Given the description of an element on the screen output the (x, y) to click on. 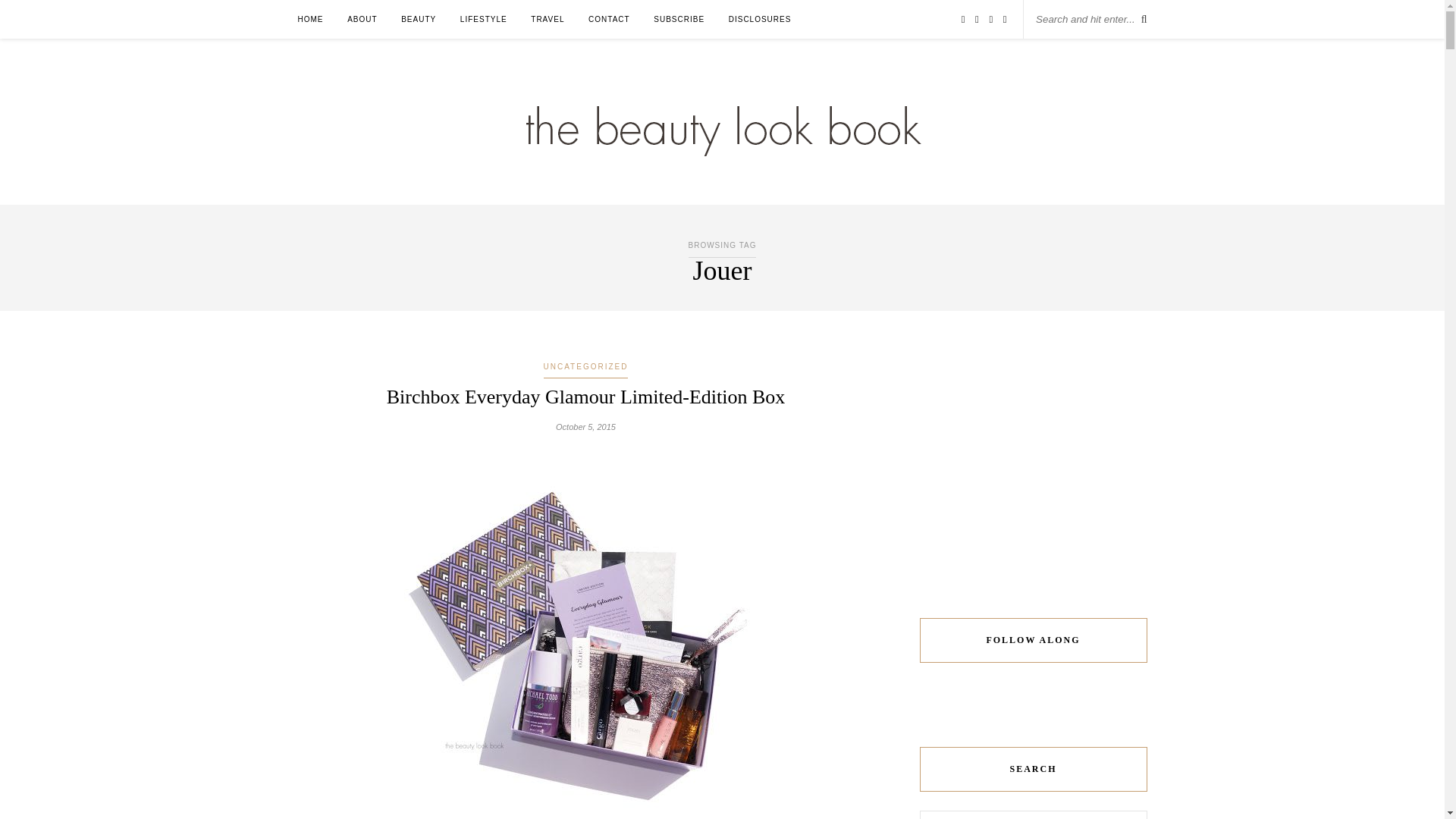
SUBSCRIBE (678, 19)
BEAUTY (418, 19)
Birchbox Everyday Glamour Limited-Edition Box (586, 396)
UNCATEGORIZED (585, 367)
LIFESTYLE (483, 19)
TRAVEL (547, 19)
CONTACT (609, 19)
View all posts in Uncategorized (585, 367)
DISCLOSURES (760, 19)
HOME (310, 19)
ABOUT (362, 19)
